Given the description of an element on the screen output the (x, y) to click on. 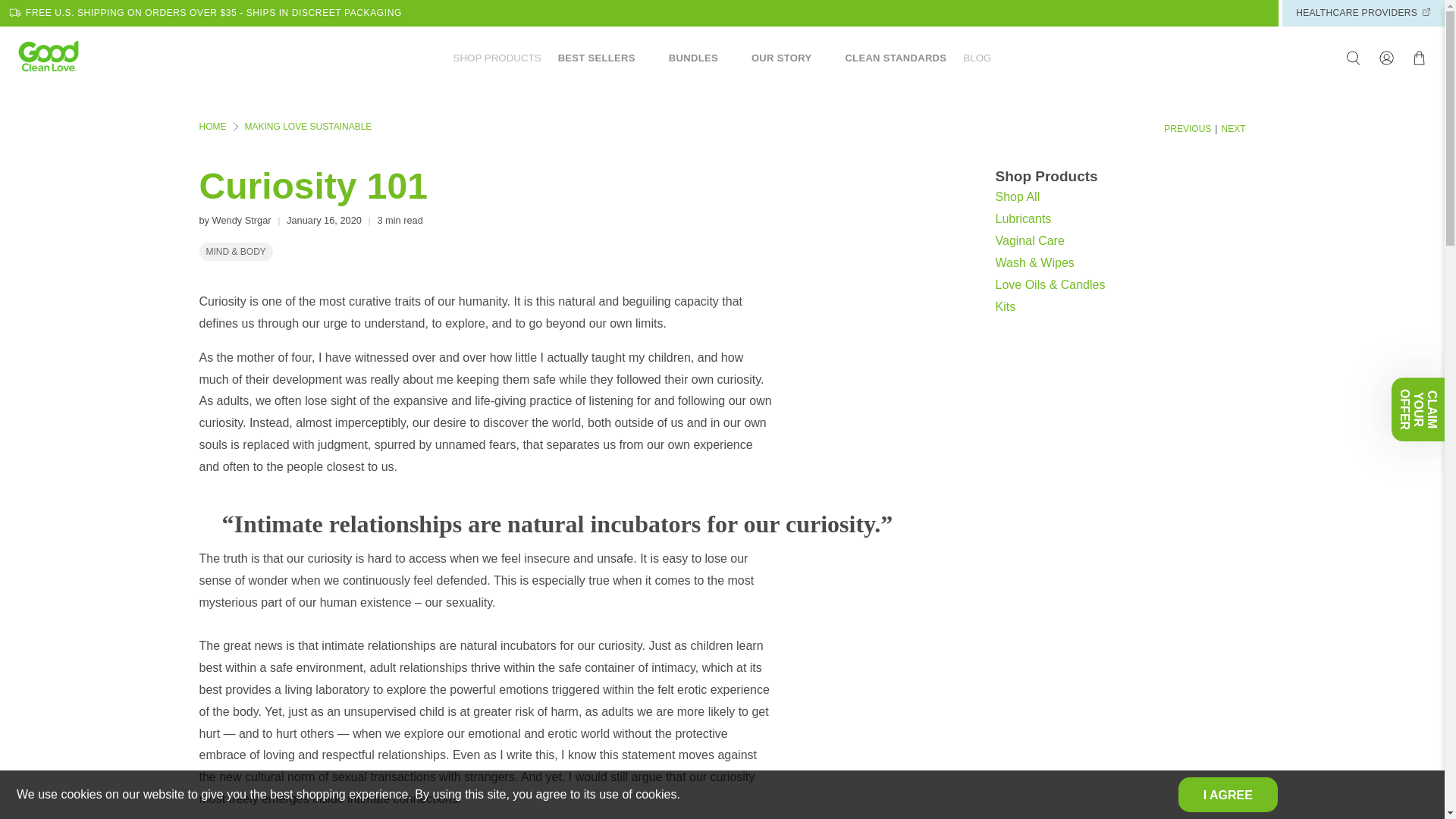
SHOP PRODUCTS (496, 57)
Lubricants (1022, 218)
Good Clean Love (211, 126)
Making Love Sustainable (307, 126)
Vaginal Care (1029, 239)
Kits (1004, 306)
Shop All (1016, 195)
Next (1232, 128)
Previous (1187, 128)
